Given the description of an element on the screen output the (x, y) to click on. 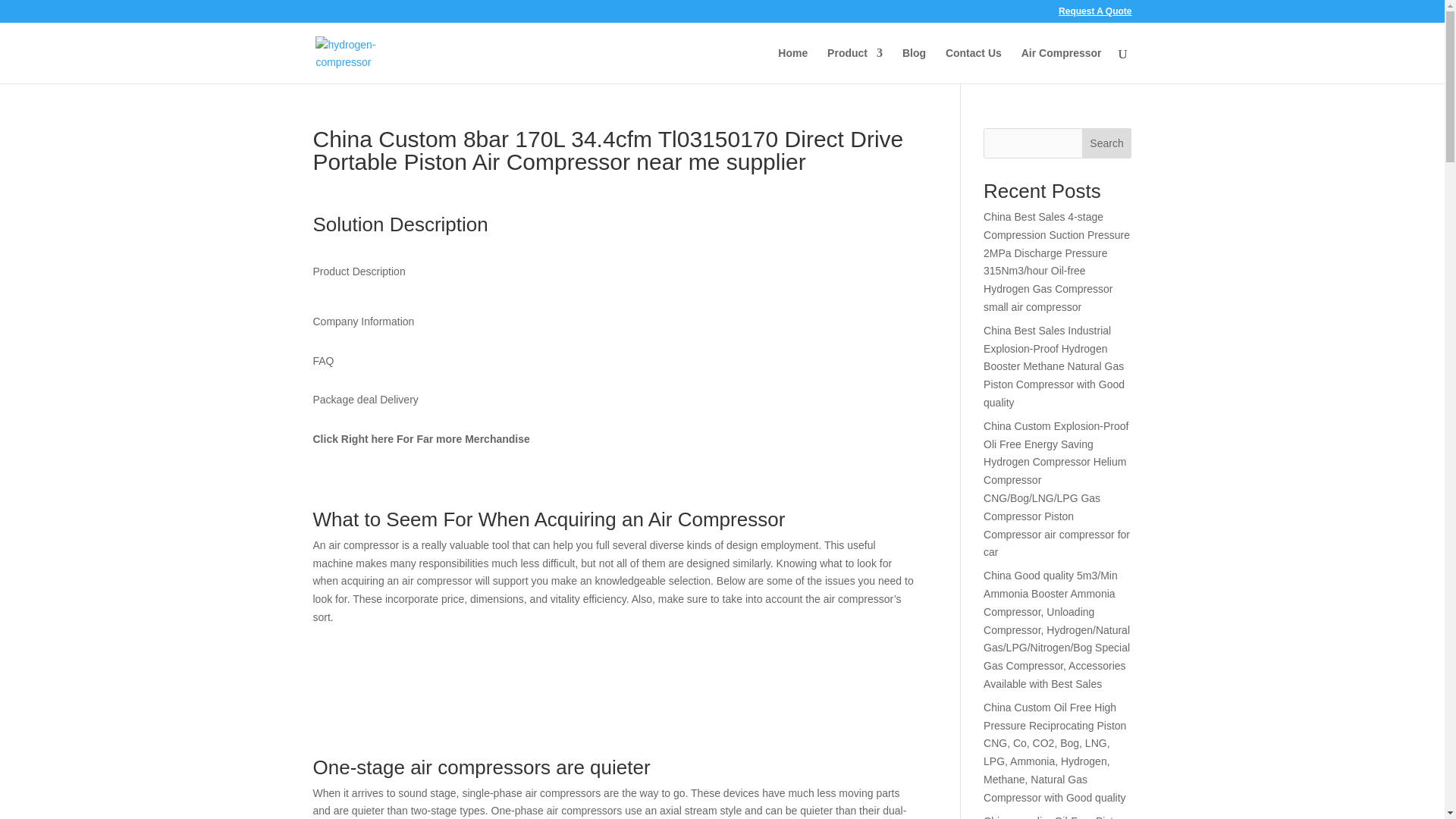
Contact Us (972, 65)
Air Compressor (1062, 65)
Search (1106, 142)
Product (854, 65)
Request A Quote (1094, 14)
